Given the description of an element on the screen output the (x, y) to click on. 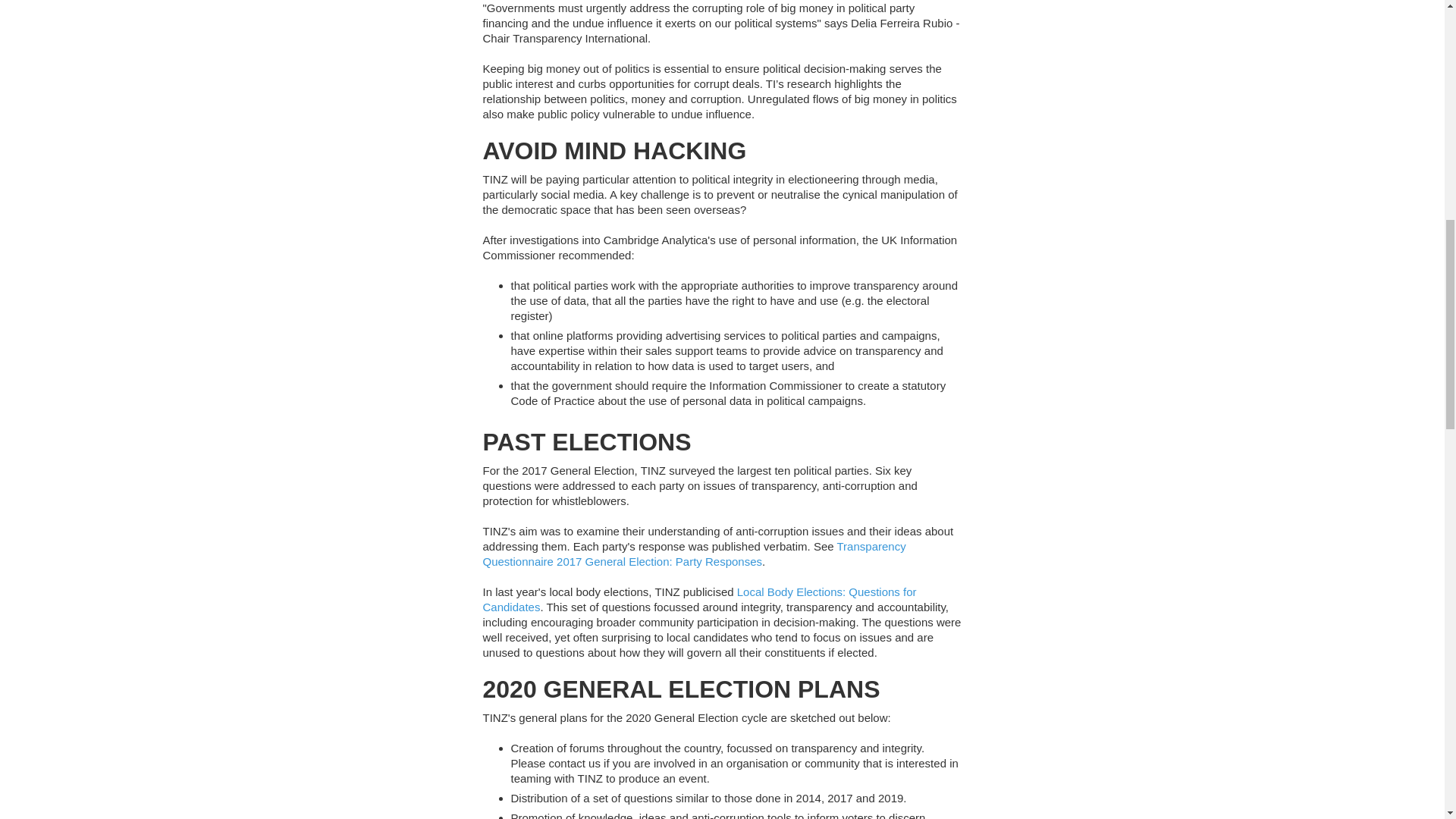
Local Body Elections: Questions for Candidates (698, 599)
